Given the description of an element on the screen output the (x, y) to click on. 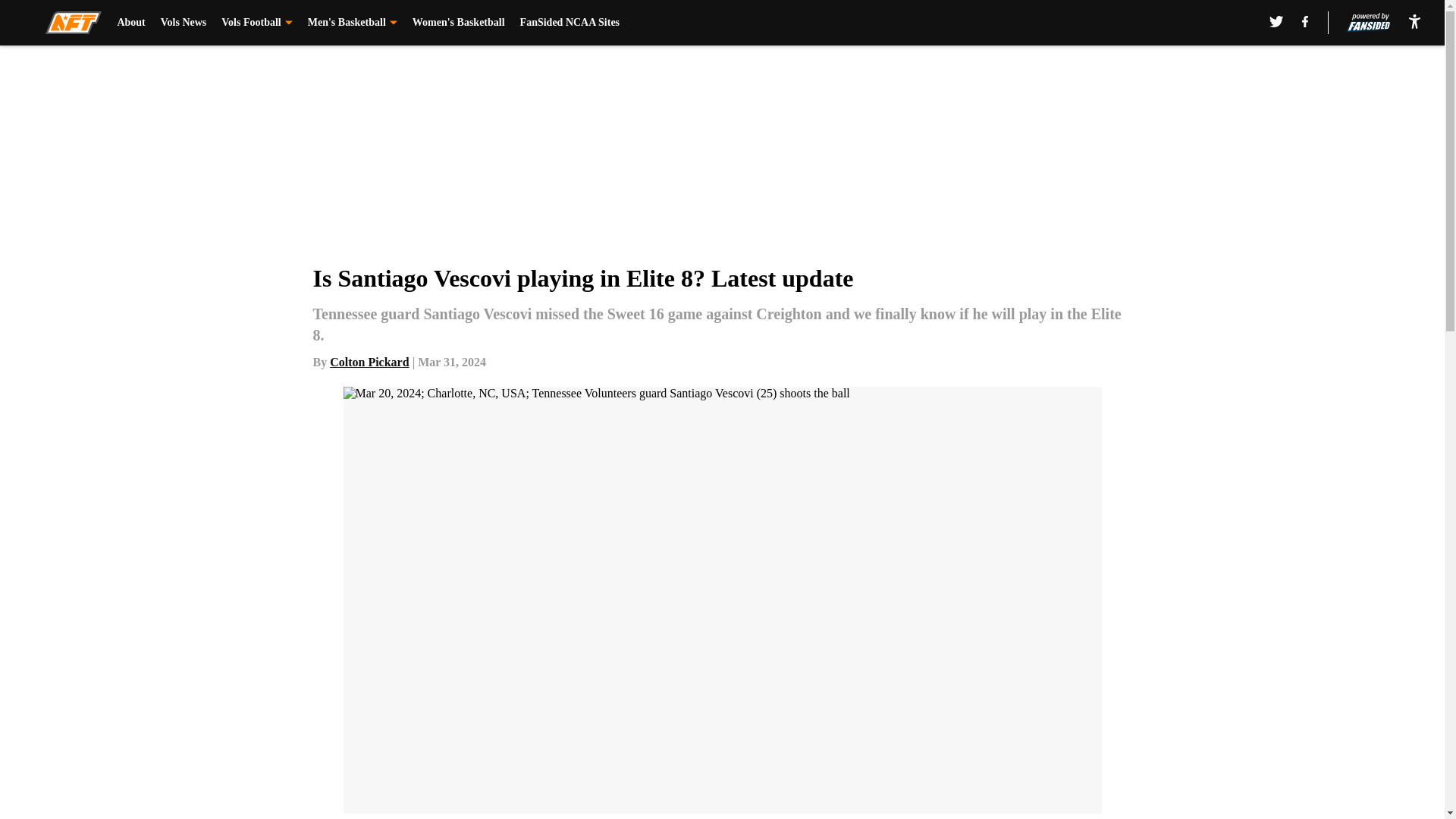
Women's Basketball (458, 22)
About (130, 22)
Colton Pickard (369, 361)
Vols News (183, 22)
FanSided NCAA Sites (569, 22)
